Given the description of an element on the screen output the (x, y) to click on. 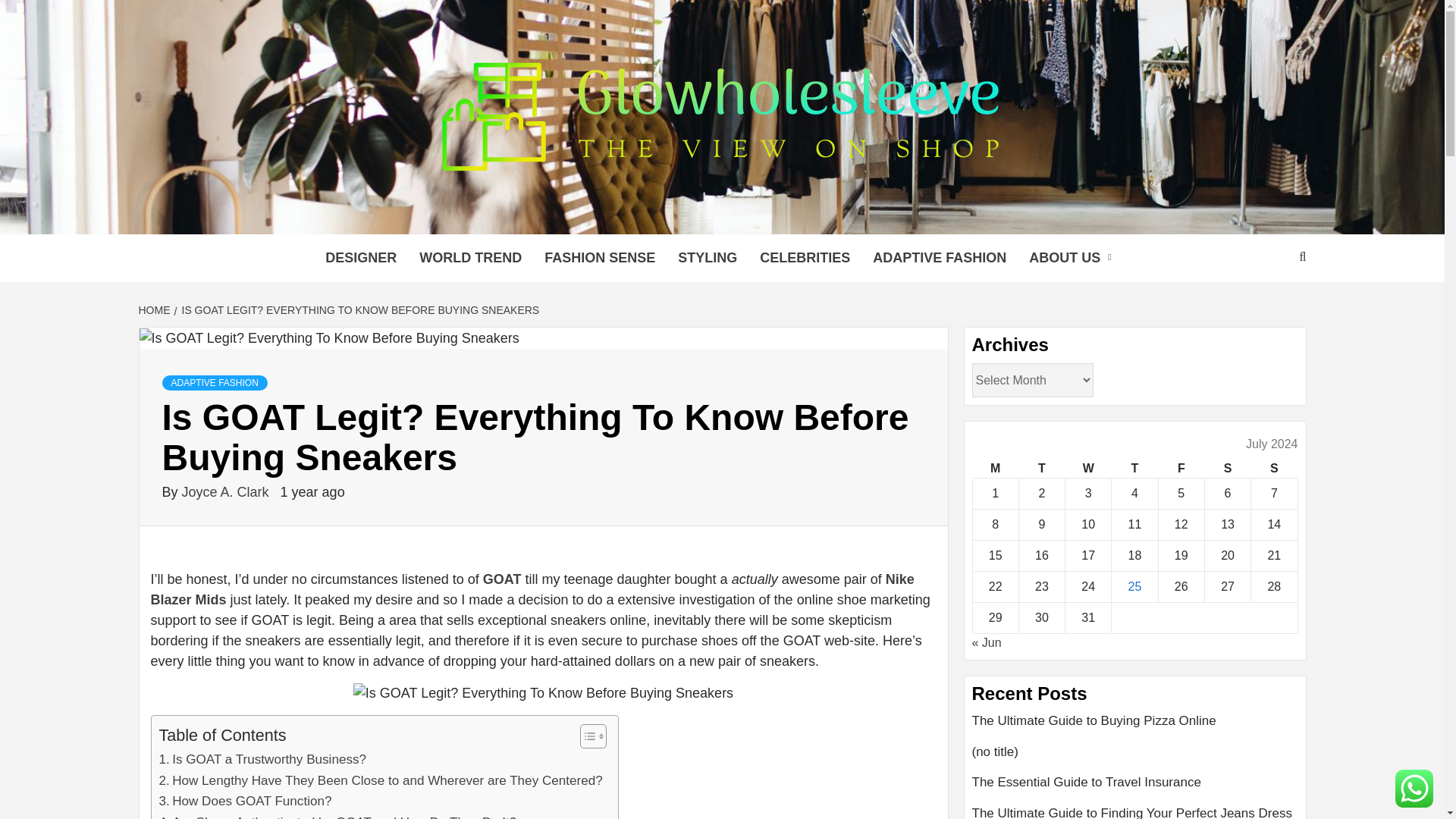
GOAT (502, 579)
ABOUT US (1073, 257)
GLOWHOLESLEEVE (514, 214)
Are Shoes Authenticated by GOAT and How Do They Do It? (337, 815)
FASHION SENSE (599, 257)
Joyce A. Clark (227, 491)
IS GOAT LEGIT? EVERYTHING TO KNOW BEFORE BUYING SNEAKERS (358, 309)
WORLD TREND (469, 257)
HOME (155, 309)
ADAPTIVE FASHION (214, 382)
ADAPTIVE FASHION (939, 257)
How Does GOAT Function? (244, 801)
CELEBRITIES (804, 257)
Is GOAT a Trustworthy Business? (262, 759)
